Given the description of an element on the screen output the (x, y) to click on. 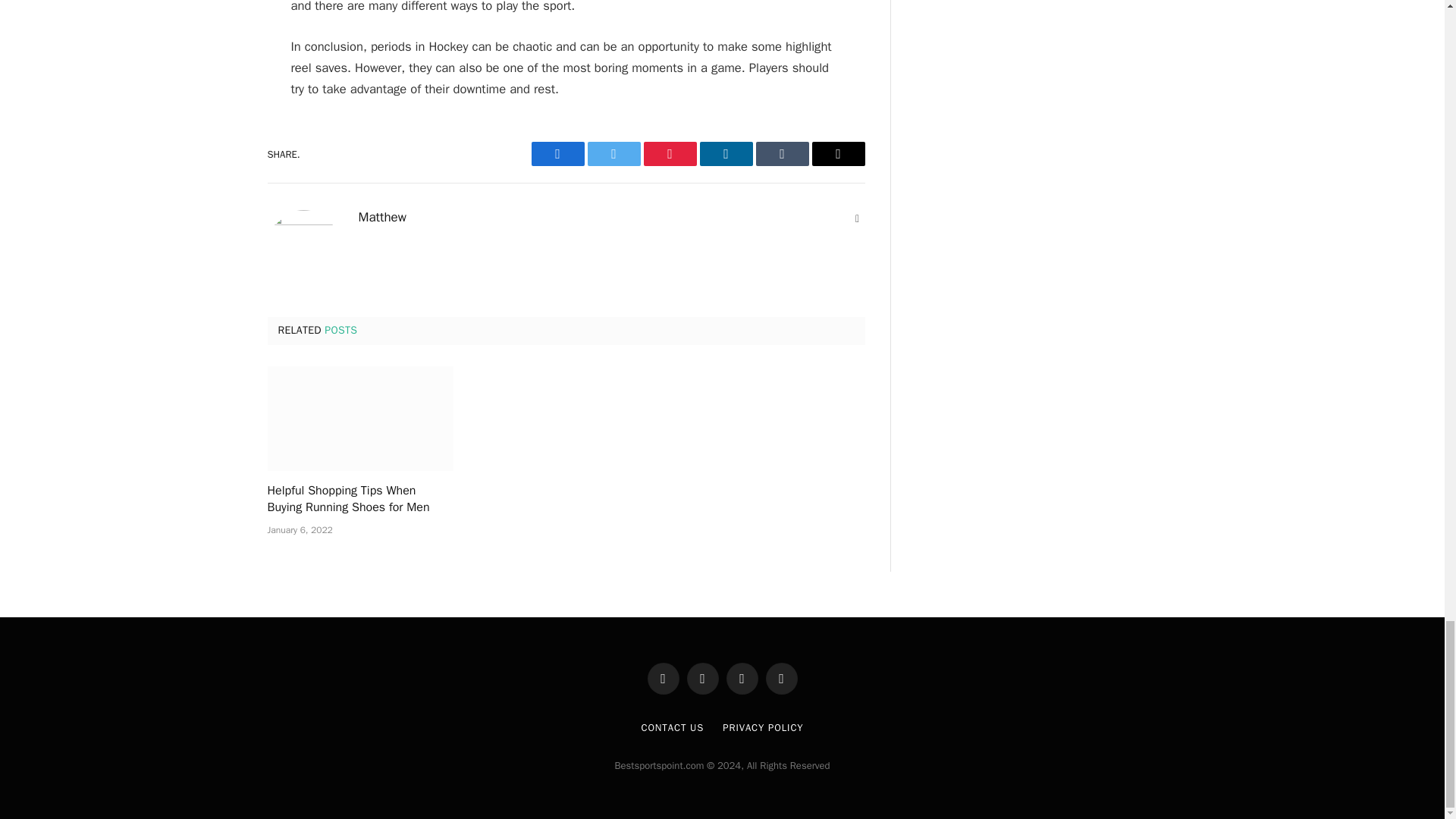
Twitter (613, 153)
Facebook (557, 153)
Pinterest (669, 153)
